Given the description of an element on the screen output the (x, y) to click on. 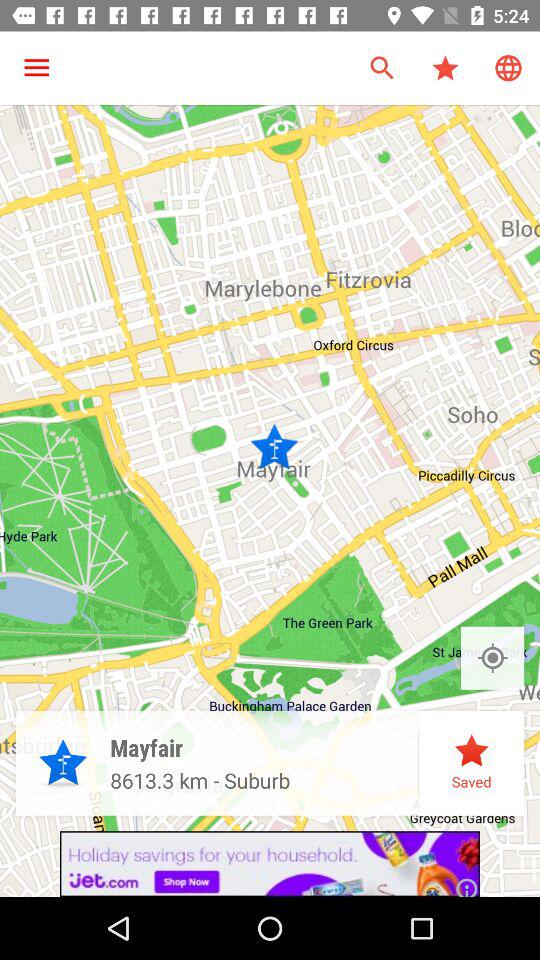
select google map (492, 657)
